Given the description of an element on the screen output the (x, y) to click on. 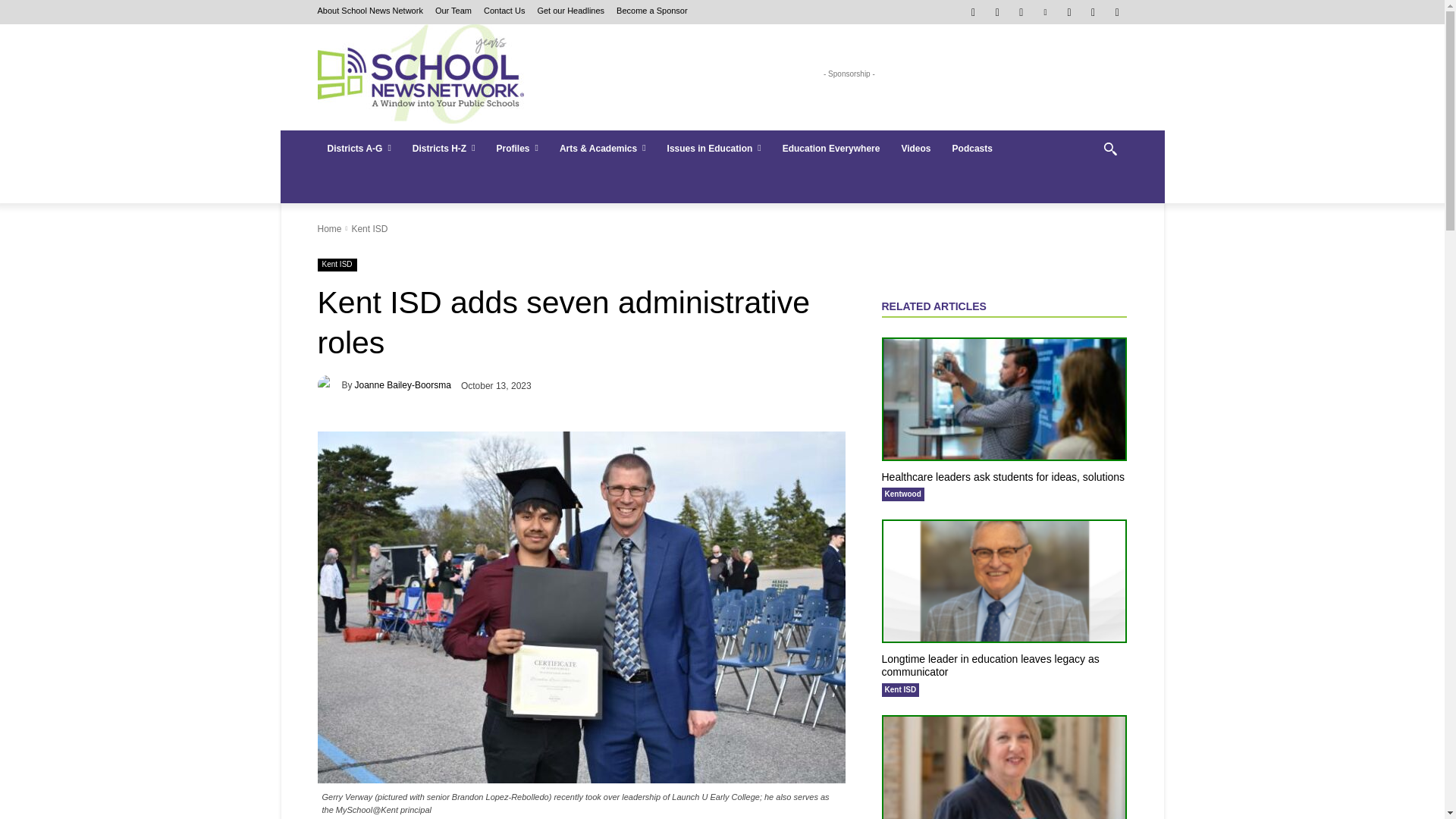
Mail (1021, 11)
Pinterest (1045, 11)
Instagram (997, 11)
Facebook (973, 11)
RSS (1069, 11)
